Given the description of an element on the screen output the (x, y) to click on. 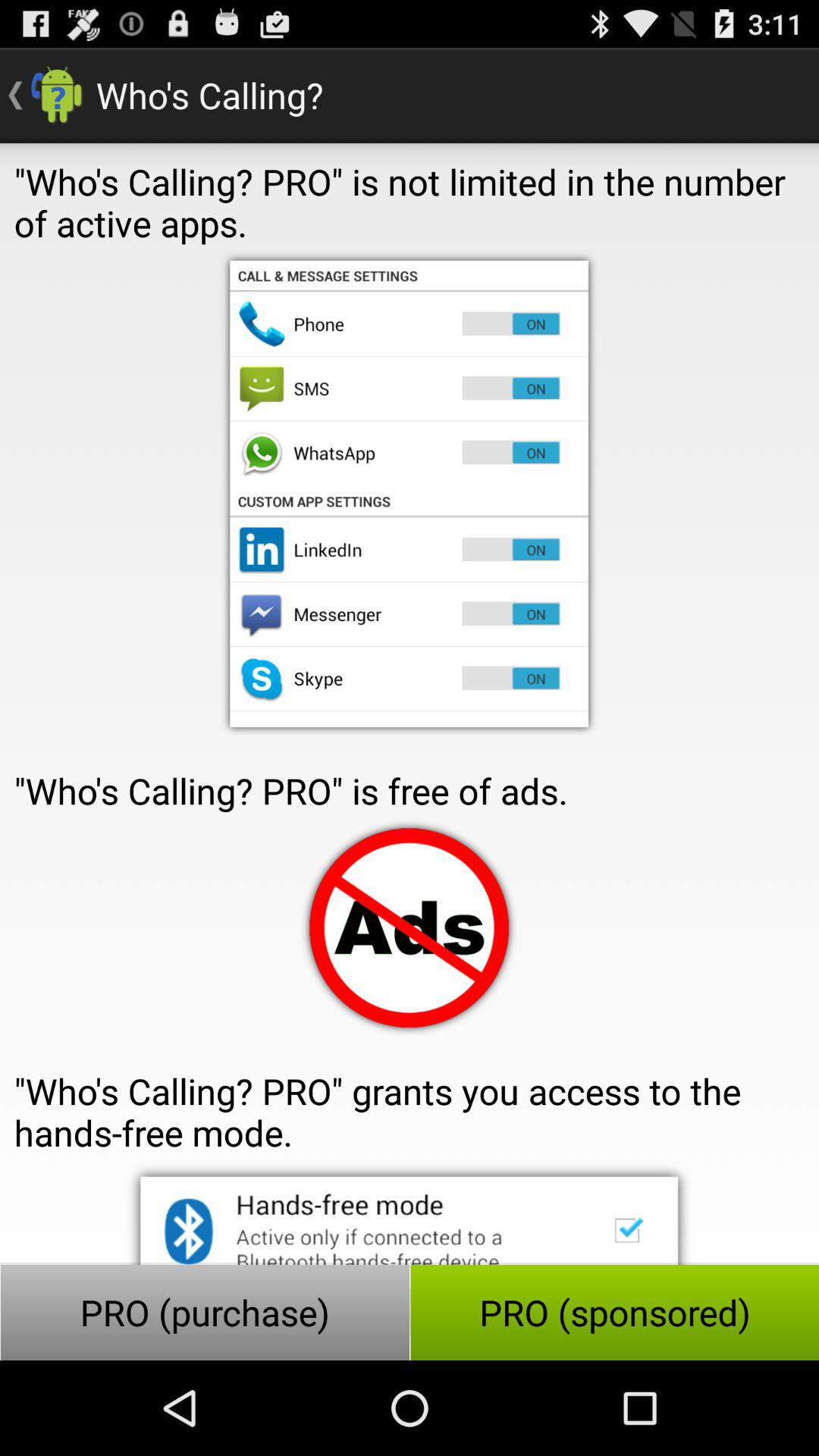
click the pro (sponsored) (614, 1312)
